Given the description of an element on the screen output the (x, y) to click on. 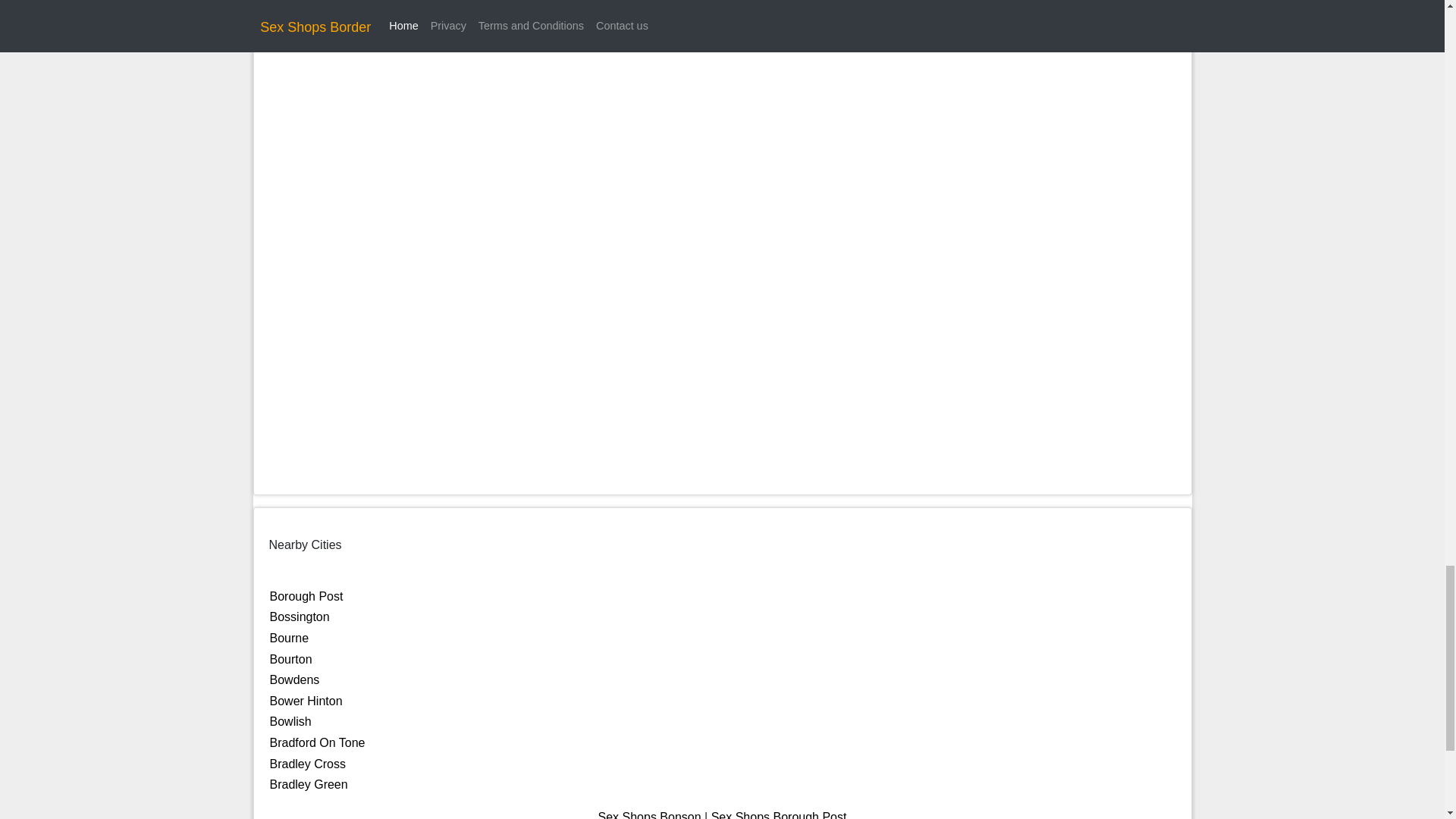
Bradley Cross (307, 763)
Bradley Green (308, 784)
Bourton (291, 658)
Bowdens (294, 679)
Borough Post (306, 595)
Bourne (288, 637)
Sex Shops Borough Post (779, 814)
Sex Shops Bonson (649, 814)
Bowlish (290, 721)
Bossington (299, 616)
Bradford On Tone (317, 742)
Bower Hinton (305, 700)
